Given the description of an element on the screen output the (x, y) to click on. 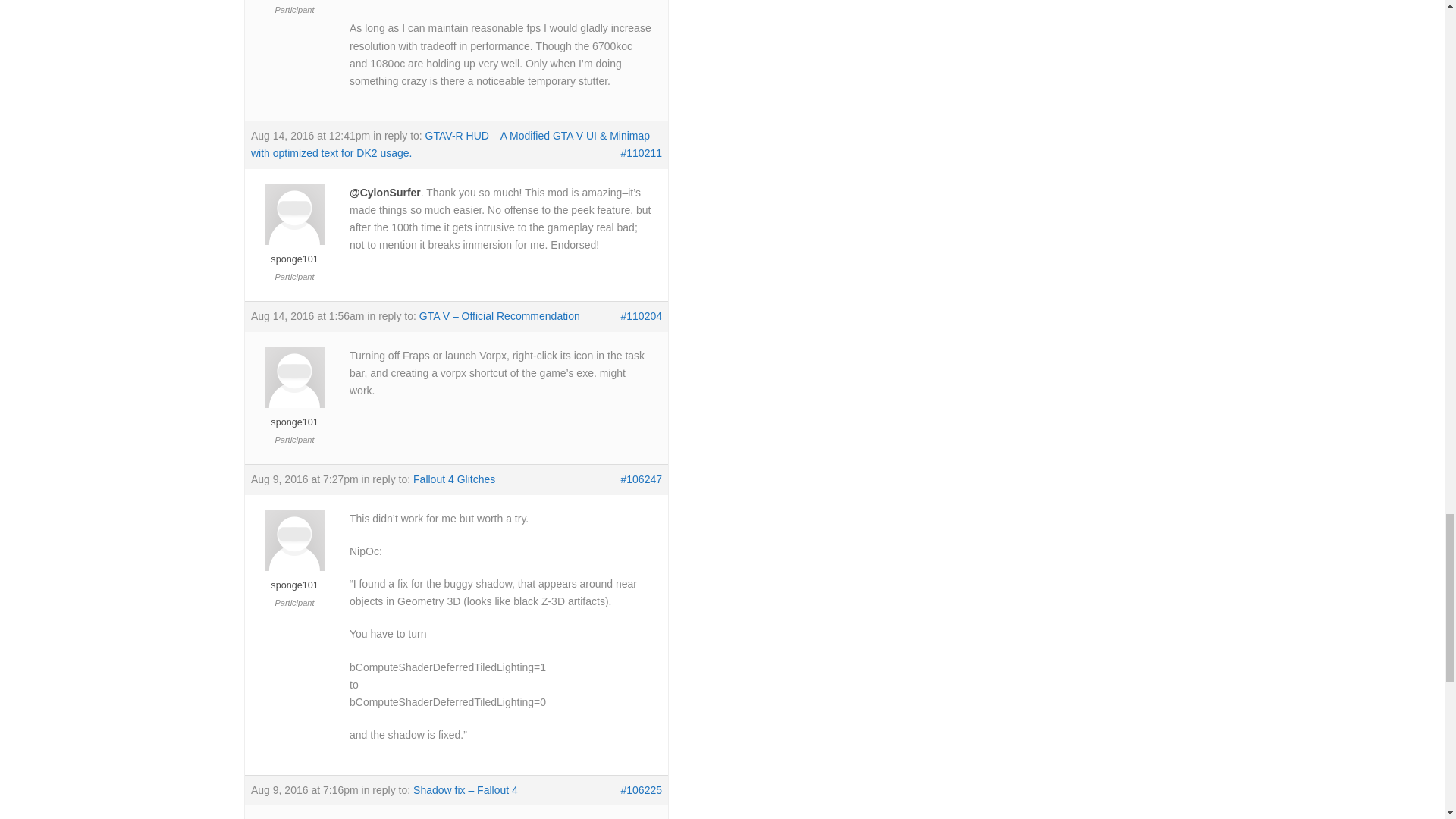
View sponge101's profile (293, 252)
